Given the description of an element on the screen output the (x, y) to click on. 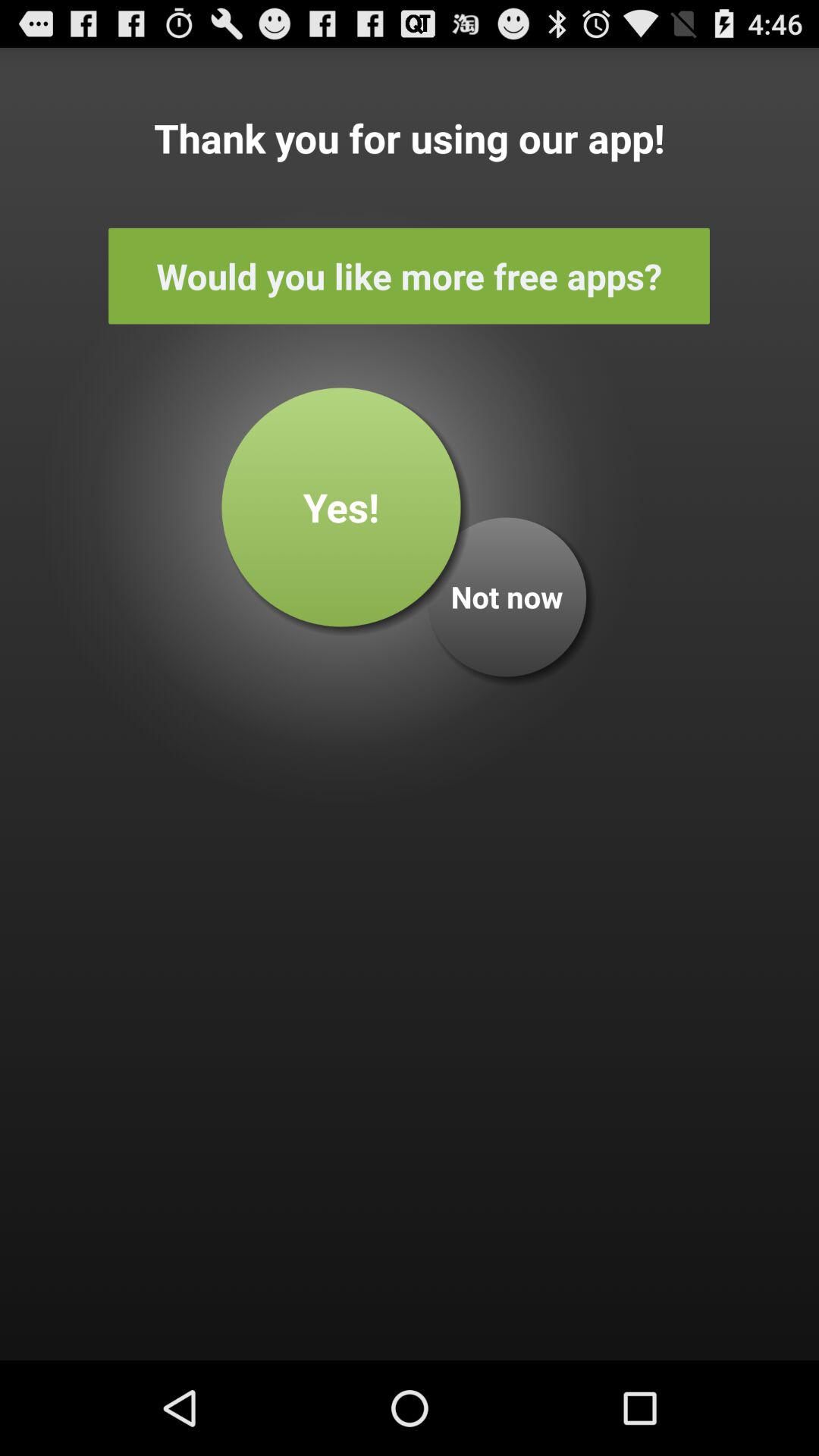
select the not now icon (506, 596)
